Given the description of an element on the screen output the (x, y) to click on. 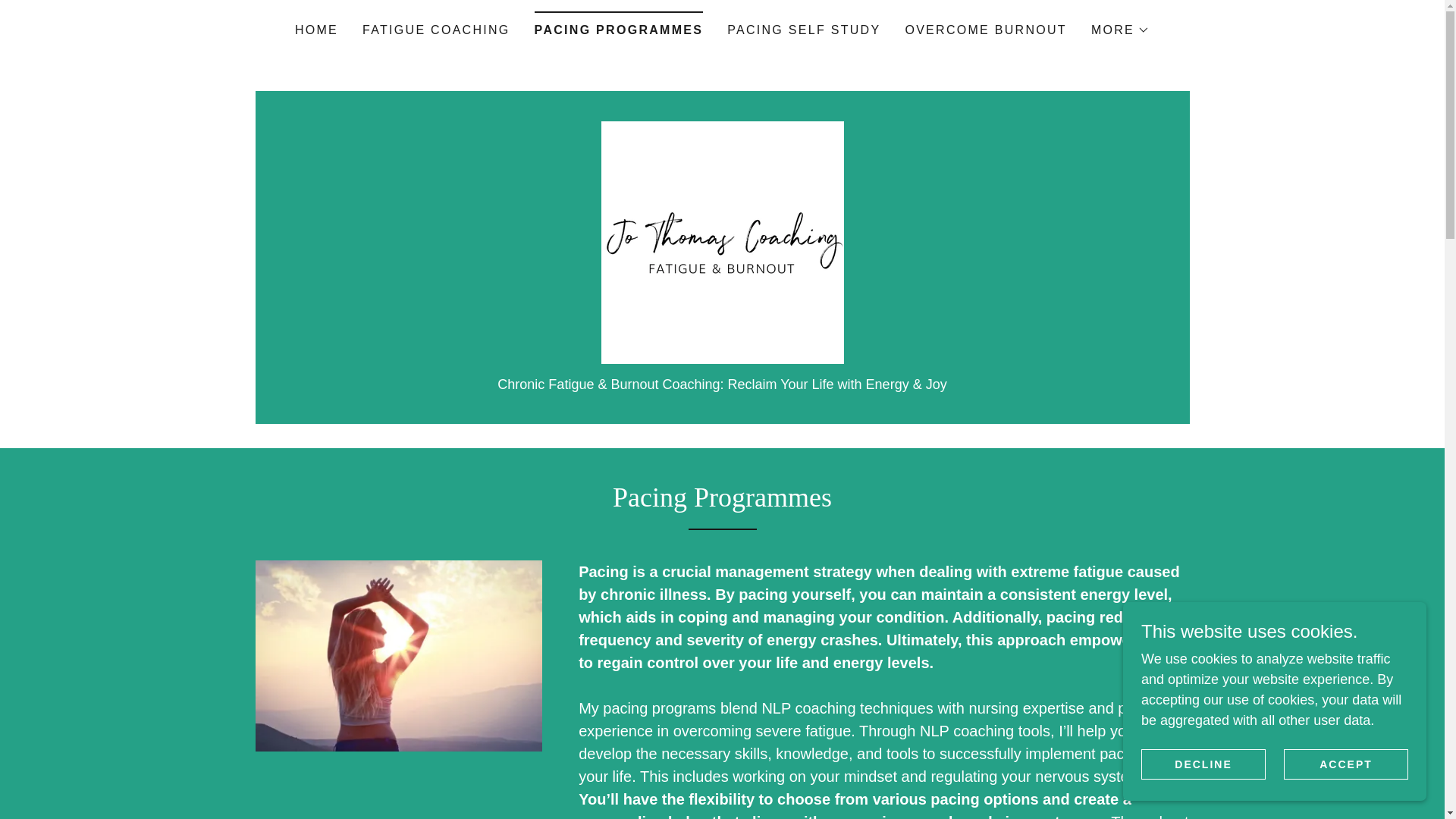
FATIGUE COACHING (436, 30)
MORE (1120, 30)
Jo Thomas Coaching (721, 241)
PACING PROGRAMMES (618, 25)
OVERCOME BURNOUT (985, 30)
PACING SELF STUDY (803, 30)
HOME (315, 30)
